Given the description of an element on the screen output the (x, y) to click on. 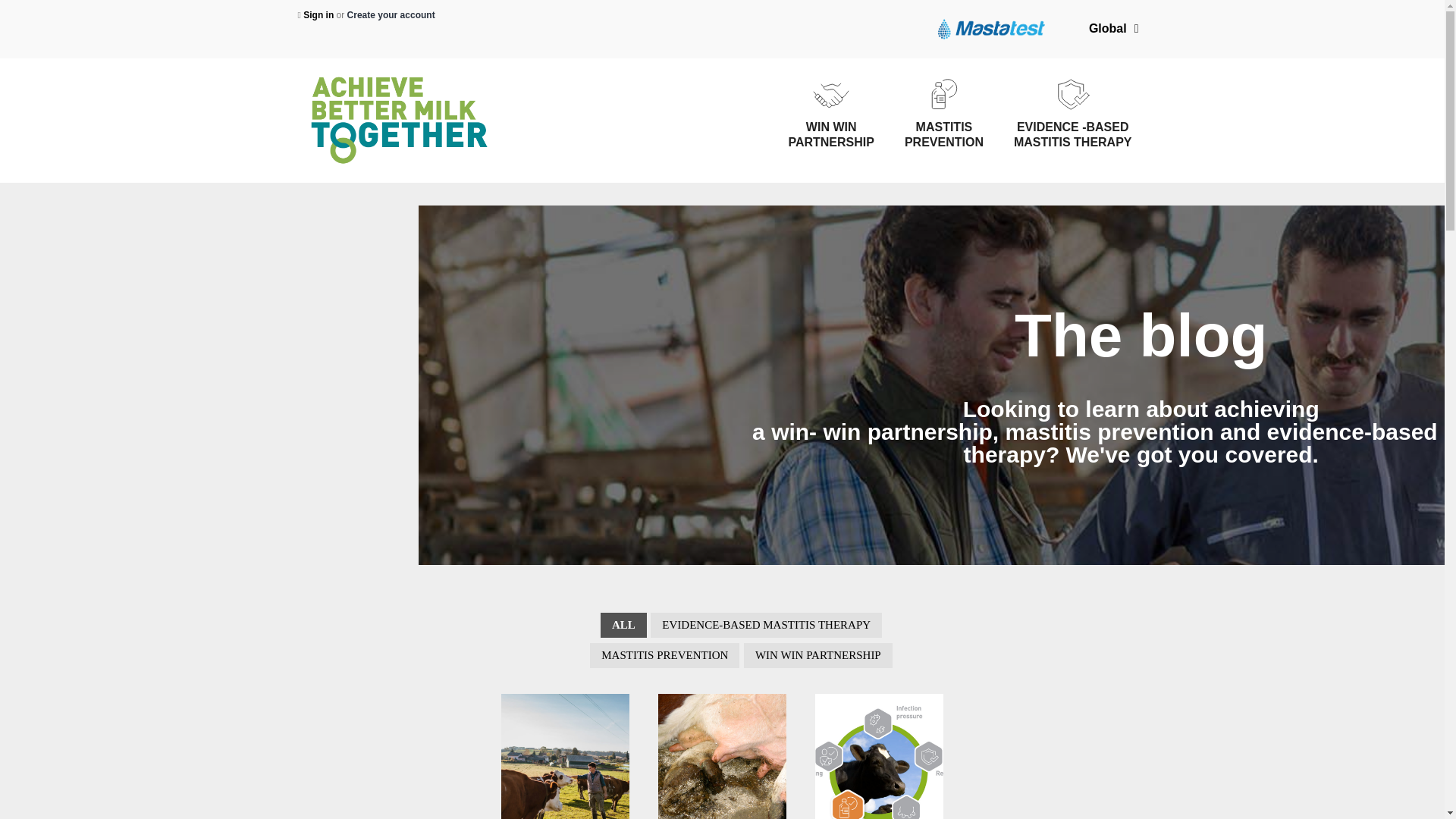
mastatest1 (993, 29)
Create your account (391, 14)
Sign in (943, 112)
Global (319, 14)
